Given the description of an element on the screen output the (x, y) to click on. 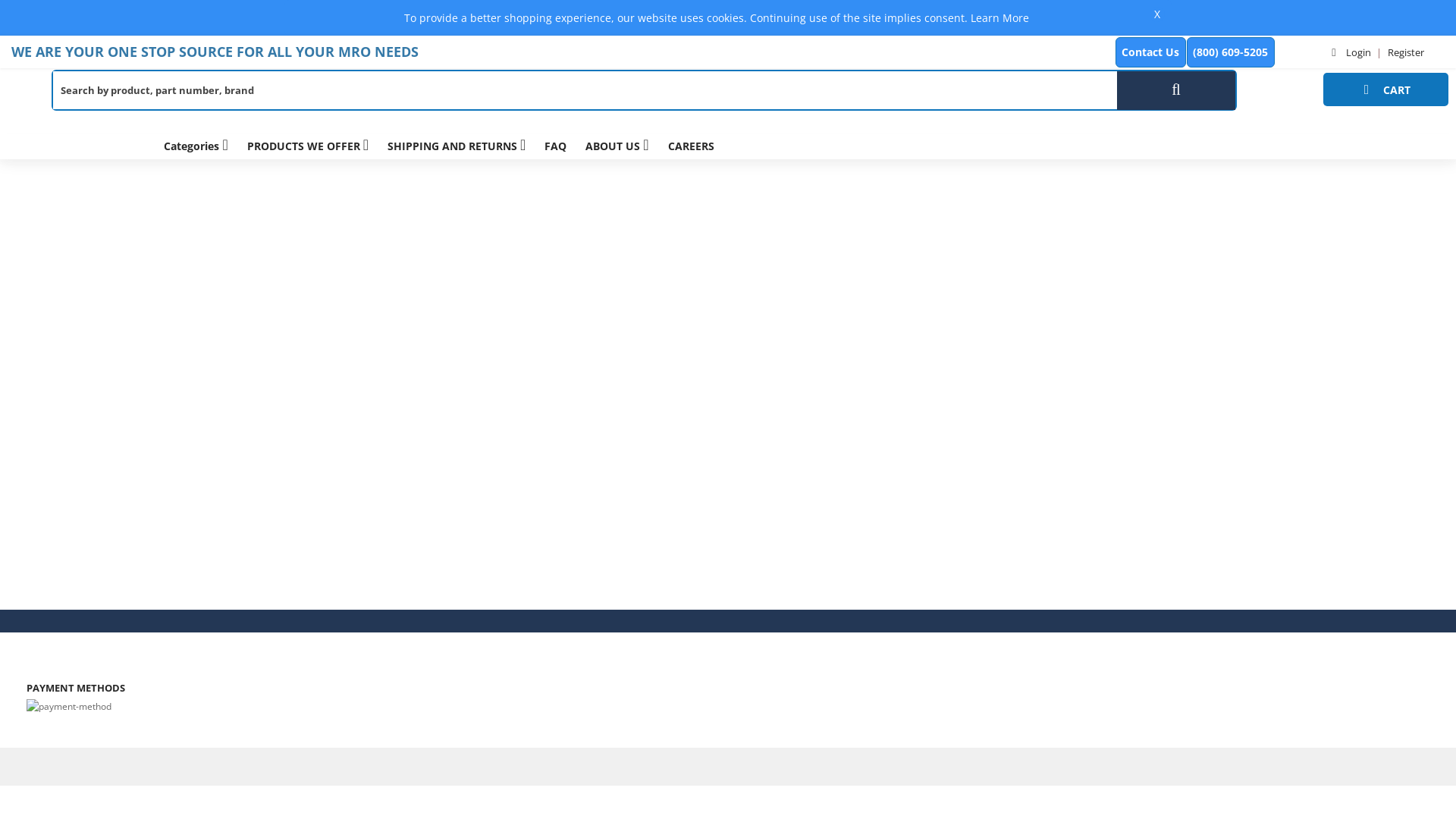
X Element type: text (1156, 13)
FAQ Element type: text (555, 146)
Login Element type: text (1351, 52)
Categories Element type: text (195, 146)
Learn More Element type: text (999, 17)
(800) 609-5205 Element type: text (1230, 51)
Contact Us Element type: text (1150, 51)
PRODUCTS WE OFFER Element type: text (307, 146)
Register Element type: text (1405, 52)
CART Element type: text (1385, 89)
CAREERS Element type: text (690, 146)
ABOUT US Element type: text (616, 146)
SHIPPING AND RETURNS Element type: text (456, 146)
Contact Us Element type: text (1150, 52)
(800) 609-5205 Element type: text (1230, 52)
